Given the description of an element on the screen output the (x, y) to click on. 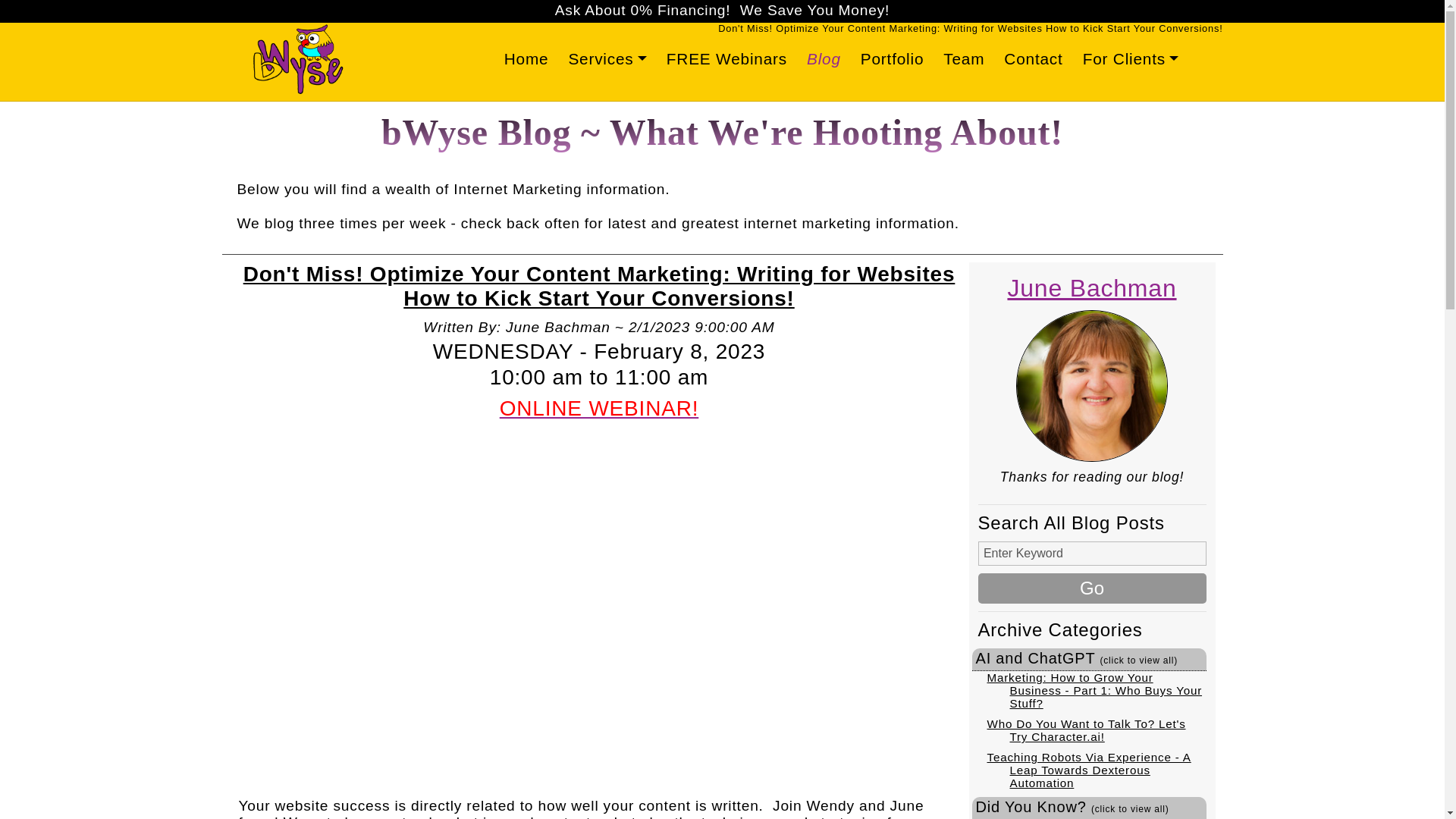
Who Do You Want to Talk To? Let's Try Character.ai! (1086, 729)
Services (607, 58)
June Bachman (1091, 288)
Go (1092, 588)
Contact (1032, 58)
 Enter Keyword (1092, 553)
FREE Webinars (727, 58)
Blog (823, 58)
ONLINE WEBINAR! (598, 408)
Portfolio (892, 58)
For Clients (1131, 58)
Home (525, 58)
Team (963, 58)
Go (1092, 588)
